Given the description of an element on the screen output the (x, y) to click on. 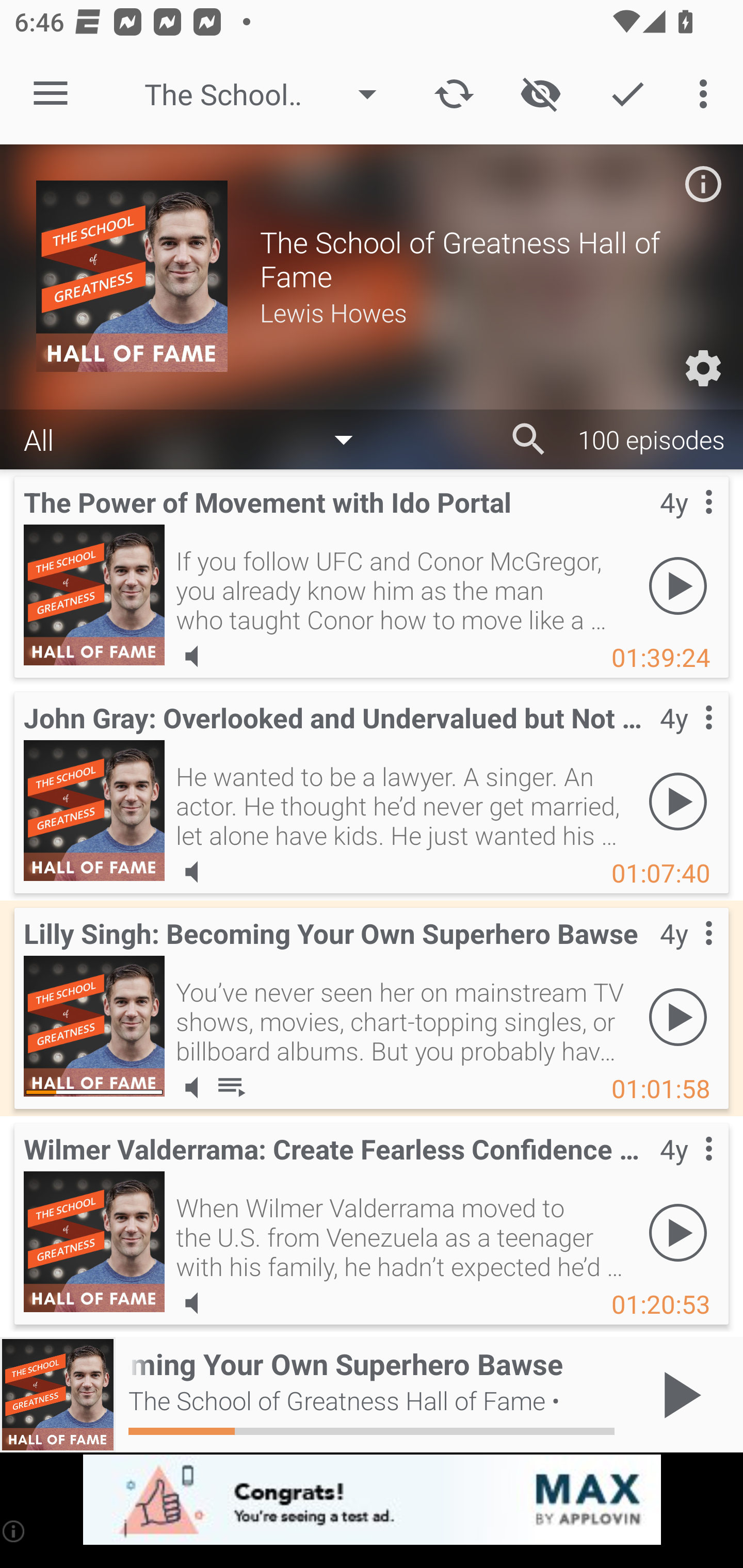
Open navigation sidebar (50, 93)
Update (453, 93)
Show / Hide played content (540, 93)
Action Mode (626, 93)
More options (706, 93)
The School of Greatness Hall of Fame (270, 94)
Podcast description (703, 184)
Lewis Howes (483, 311)
Custom Settings (703, 368)
Search (528, 439)
All (197, 438)
Contextual menu (685, 522)
The Power of Movement with Ido Portal (93, 594)
Play (677, 585)
Contextual menu (685, 738)
Play (677, 801)
Contextual menu (685, 954)
Lilly Singh: Becoming Your Own Superhero Bawse (93, 1026)
Play (677, 1016)
Contextual menu (685, 1169)
Play (677, 1232)
Play / Pause (677, 1394)
app-monetization (371, 1500)
(i) (14, 1531)
